Given the description of an element on the screen output the (x, y) to click on. 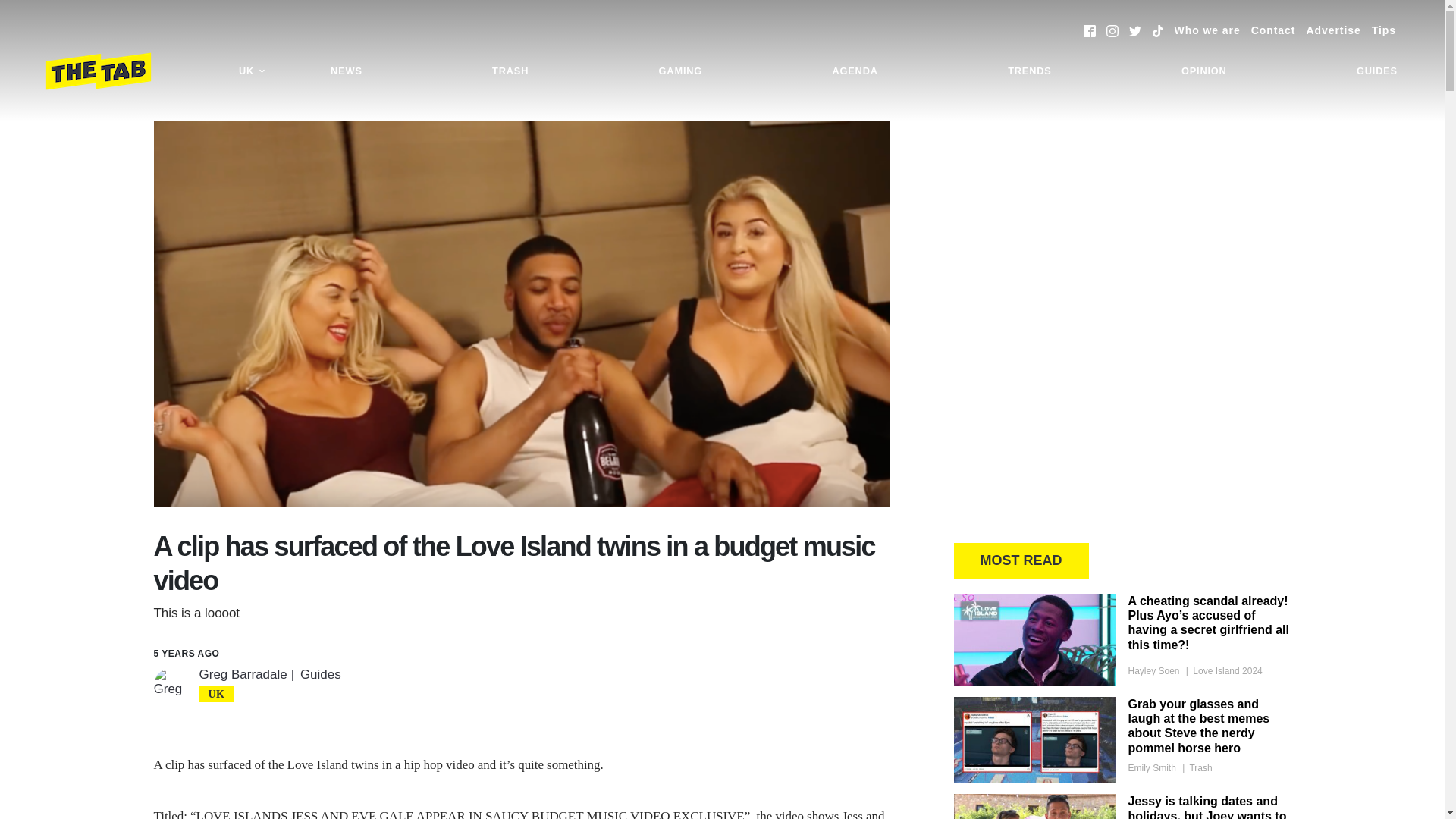
TRASH (510, 71)
Tips (1383, 29)
GAMING (680, 71)
Contact (1272, 29)
AGENDA (854, 71)
Advertise (1332, 29)
UK (252, 71)
Who we are (1207, 29)
TRENDS (1028, 71)
GUIDES (1377, 71)
OPINION (1204, 71)
NEWS (346, 71)
